Given the description of an element on the screen output the (x, y) to click on. 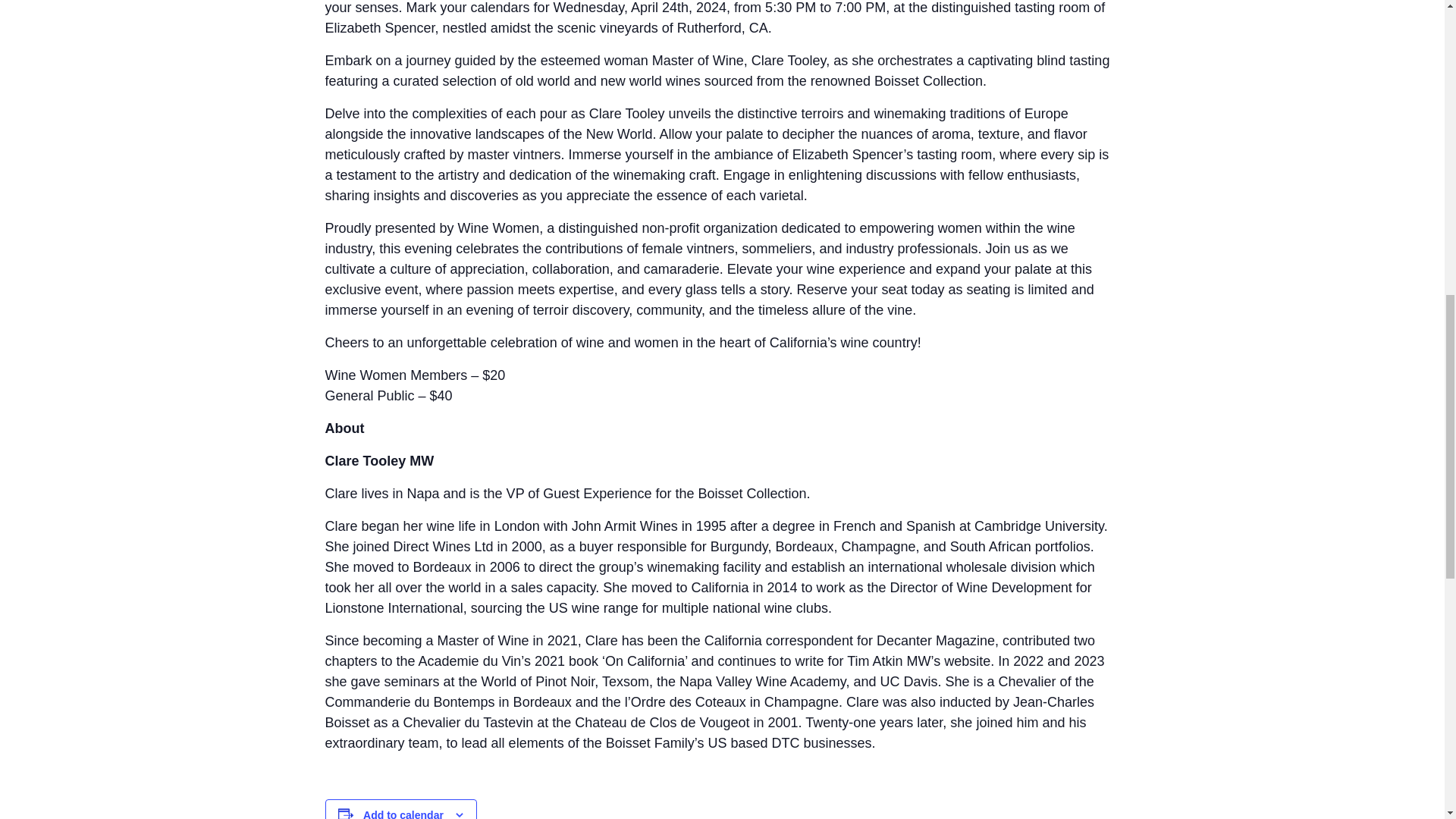
Add to calendar (403, 814)
